Given the description of an element on the screen output the (x, y) to click on. 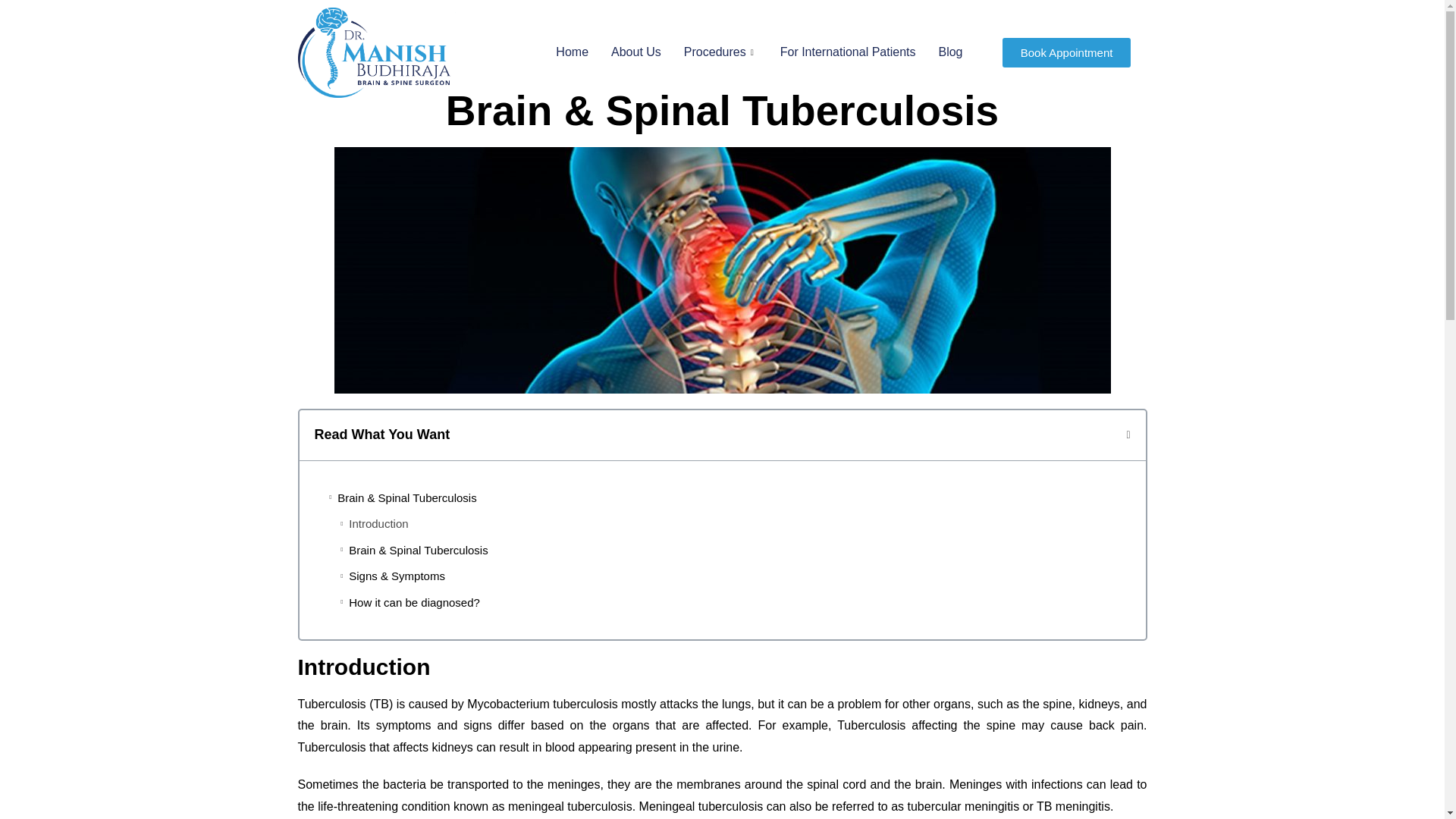
Procedures (720, 13)
Home (571, 9)
Dr Manish Budhiraja (375, 52)
Book Appointment (1067, 49)
About Us (635, 11)
For International Patients (847, 46)
